Given the description of an element on the screen output the (x, y) to click on. 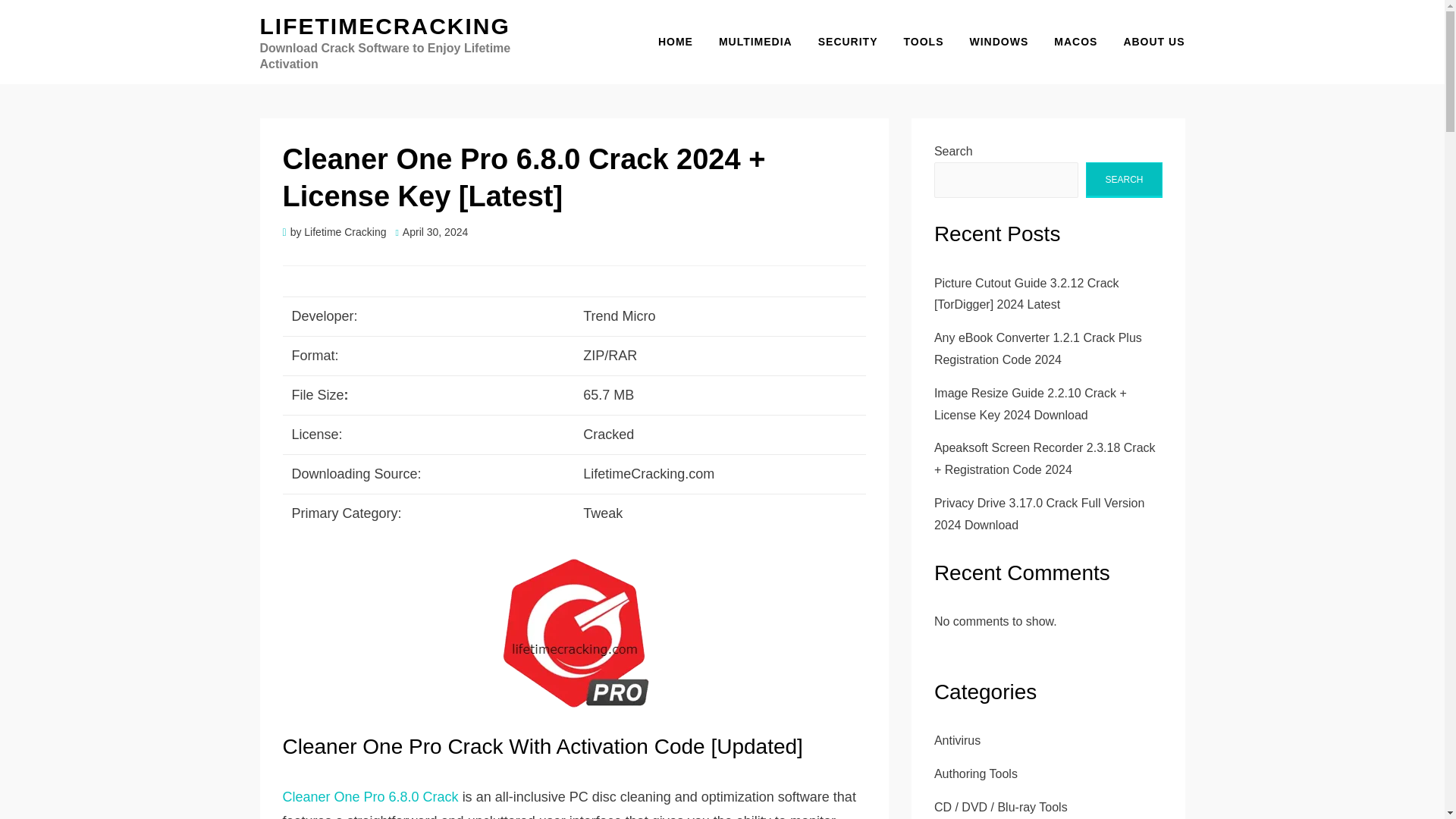
LIFETIMECRACKING (384, 25)
MULTIMEDIA (755, 41)
ABOUT US (1147, 41)
WINDOWS (998, 41)
April 30, 2024 (430, 232)
MACOS (1075, 41)
Lifetime Cracking (344, 232)
Cleaner One Pro 6.8.0 Crack (371, 796)
HOME (675, 41)
LifetimeCracking (384, 25)
